Given the description of an element on the screen output the (x, y) to click on. 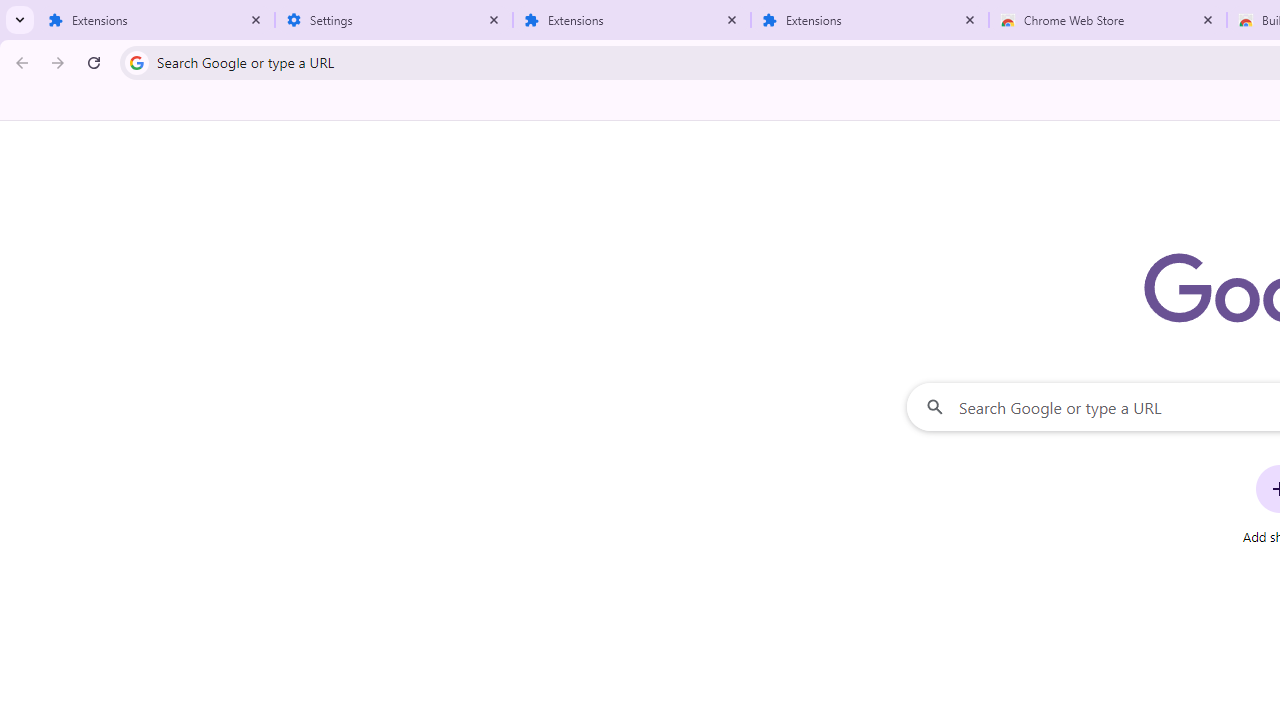
Search icon (136, 62)
Extensions (156, 20)
Extensions (870, 20)
Extensions (632, 20)
Chrome Web Store (1108, 20)
Settings (394, 20)
